Given the description of an element on the screen output the (x, y) to click on. 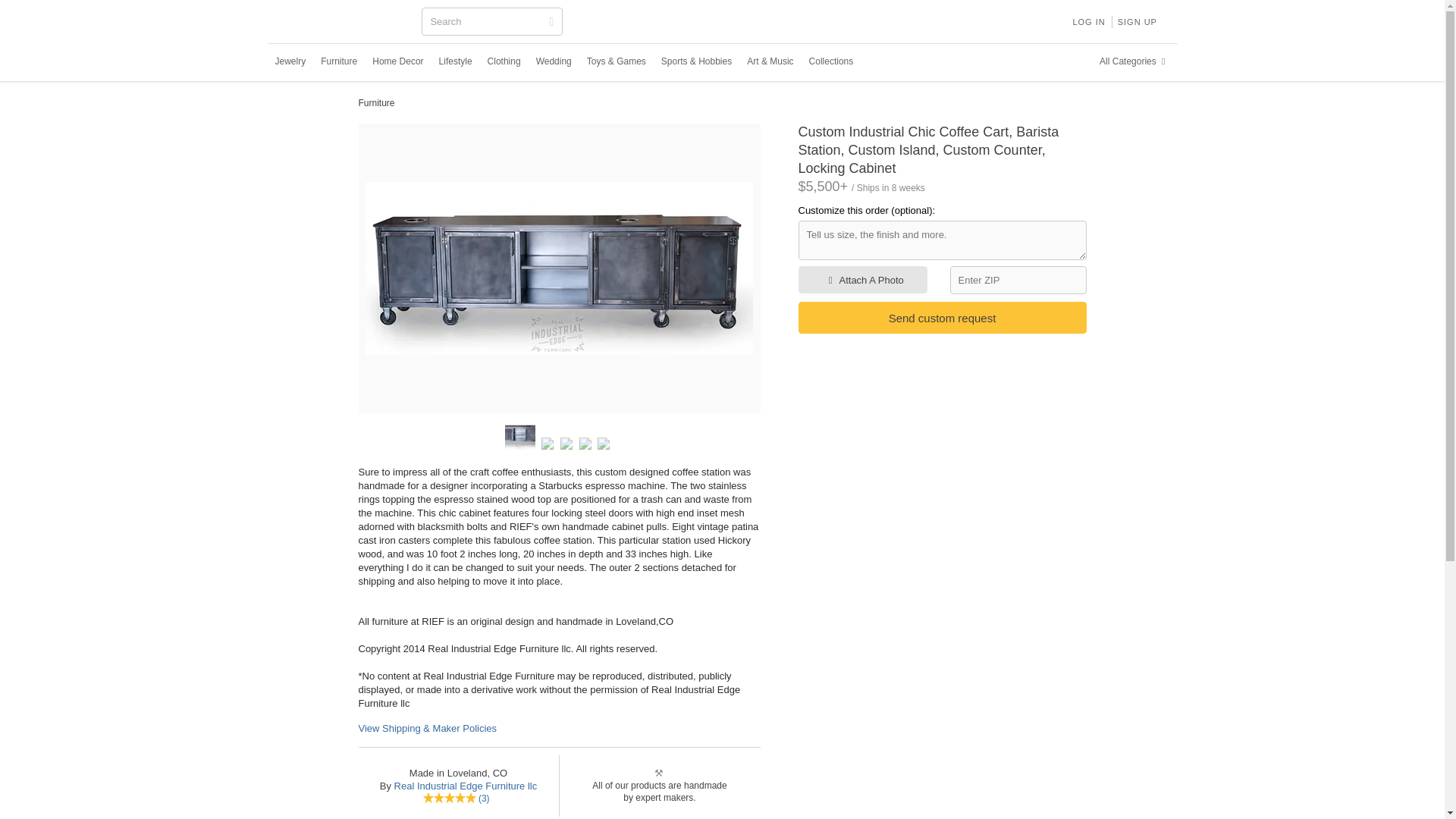
Custom Jewelry (289, 61)
LOG IN (1087, 21)
All Categories (1134, 61)
SIGN UP (1137, 21)
Log in to CustomMade (1087, 21)
Jewelry (289, 61)
CUSTOMMADE (342, 22)
